Given the description of an element on the screen output the (x, y) to click on. 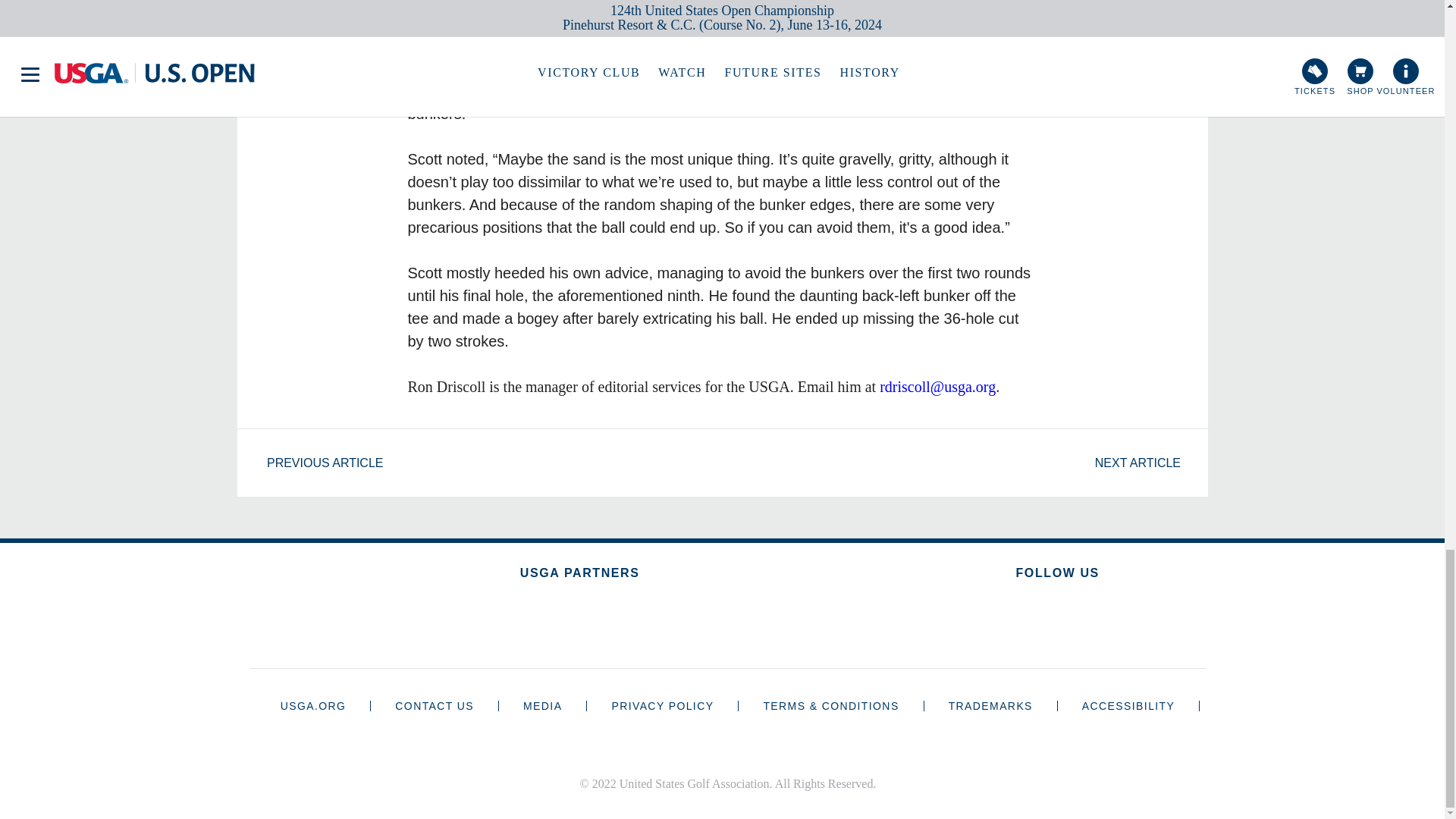
Privacy Policy (662, 705)
PREVIOUS ARTICLE (315, 462)
Twitter (1032, 617)
USGA.ORG (313, 705)
Instagram (984, 617)
Media (542, 705)
NEXT ARTICLE (1144, 462)
Youtube (1082, 617)
Facebook (1130, 617)
CONTACT US (434, 705)
USGA.ORG (313, 705)
